Given the description of an element on the screen output the (x, y) to click on. 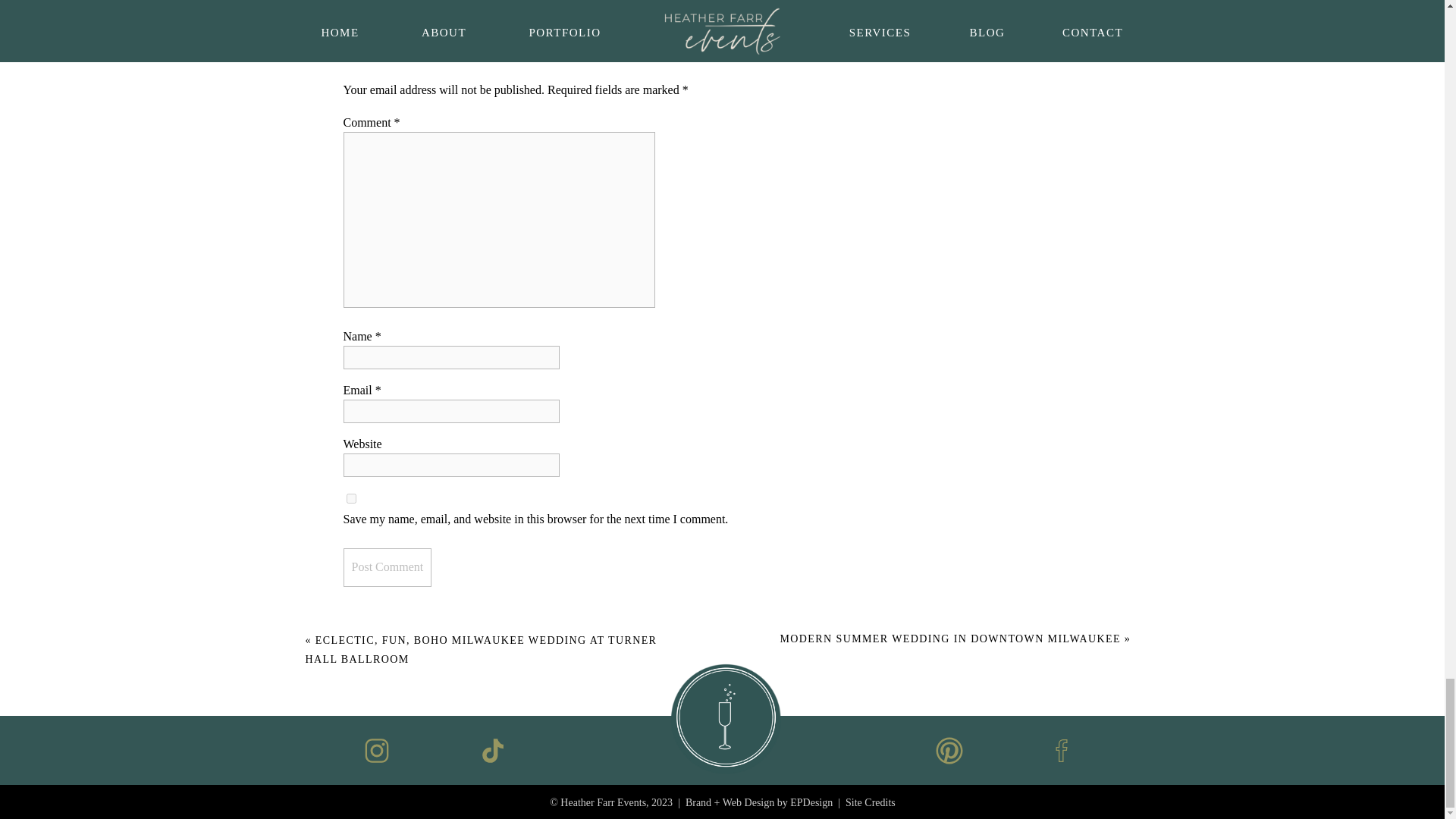
yes (350, 498)
BE THE FIRST TO COMMENT (652, 2)
Post Comment (386, 567)
Post Comment (386, 567)
MODERN SUMMER WEDDING IN DOWNTOWN MILWAUKEE (948, 638)
